Given the description of an element on the screen output the (x, y) to click on. 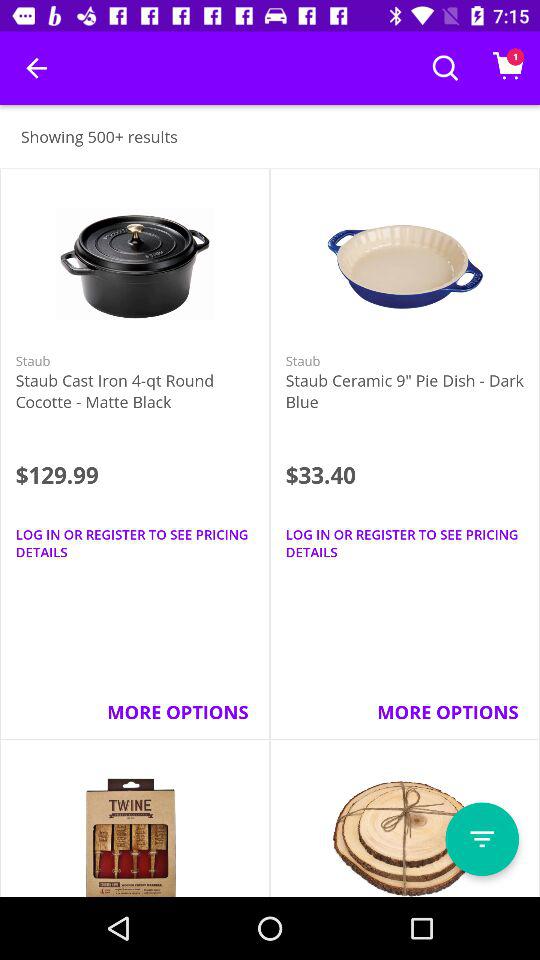
select item below more options (482, 839)
